Given the description of an element on the screen output the (x, y) to click on. 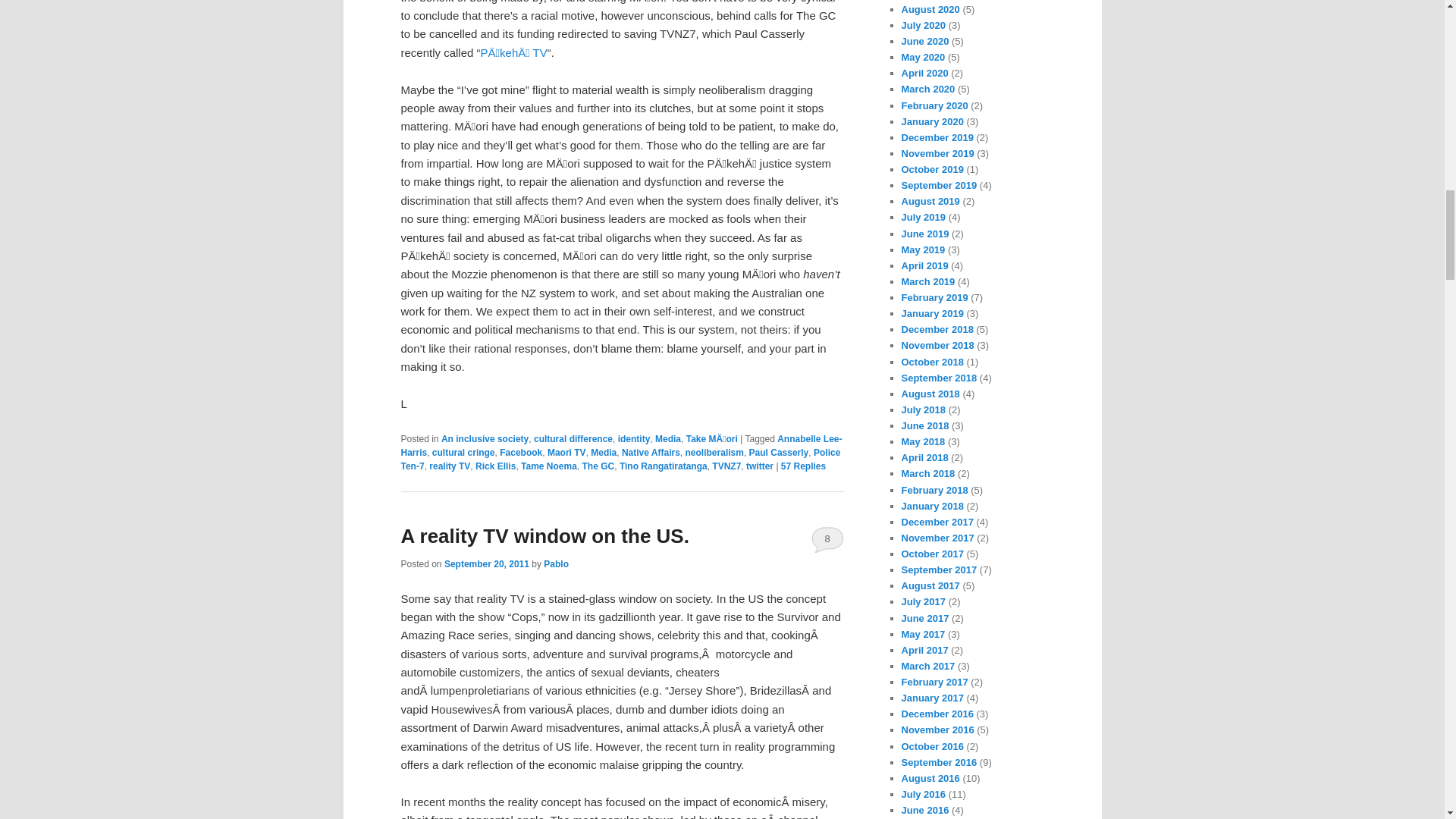
Annabelle Lee-Harris (620, 445)
Tame Noema (548, 466)
Rick Ellis (495, 466)
View all posts by Pablo (556, 563)
Police Ten-7 (620, 459)
Paul Casserly (779, 452)
Media (603, 452)
The GC (598, 466)
identity (633, 439)
Media (668, 439)
Maori TV (566, 452)
Native Affairs (650, 452)
Facebook (520, 452)
neoliberalism (714, 452)
cultural difference (573, 439)
